Given the description of an element on the screen output the (x, y) to click on. 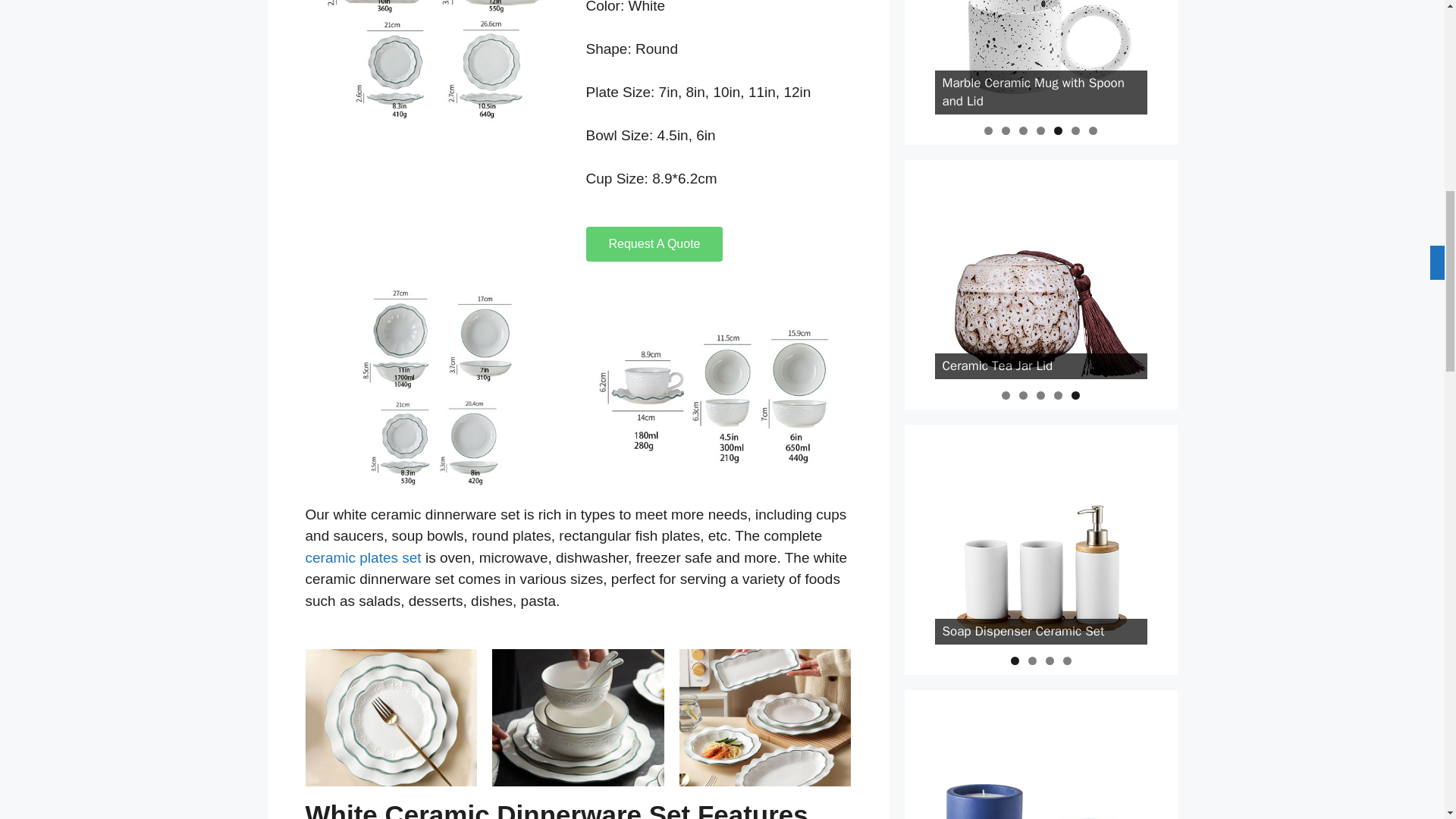
Ceramic Speckled Mug (1040, 56)
